Given the description of an element on the screen output the (x, y) to click on. 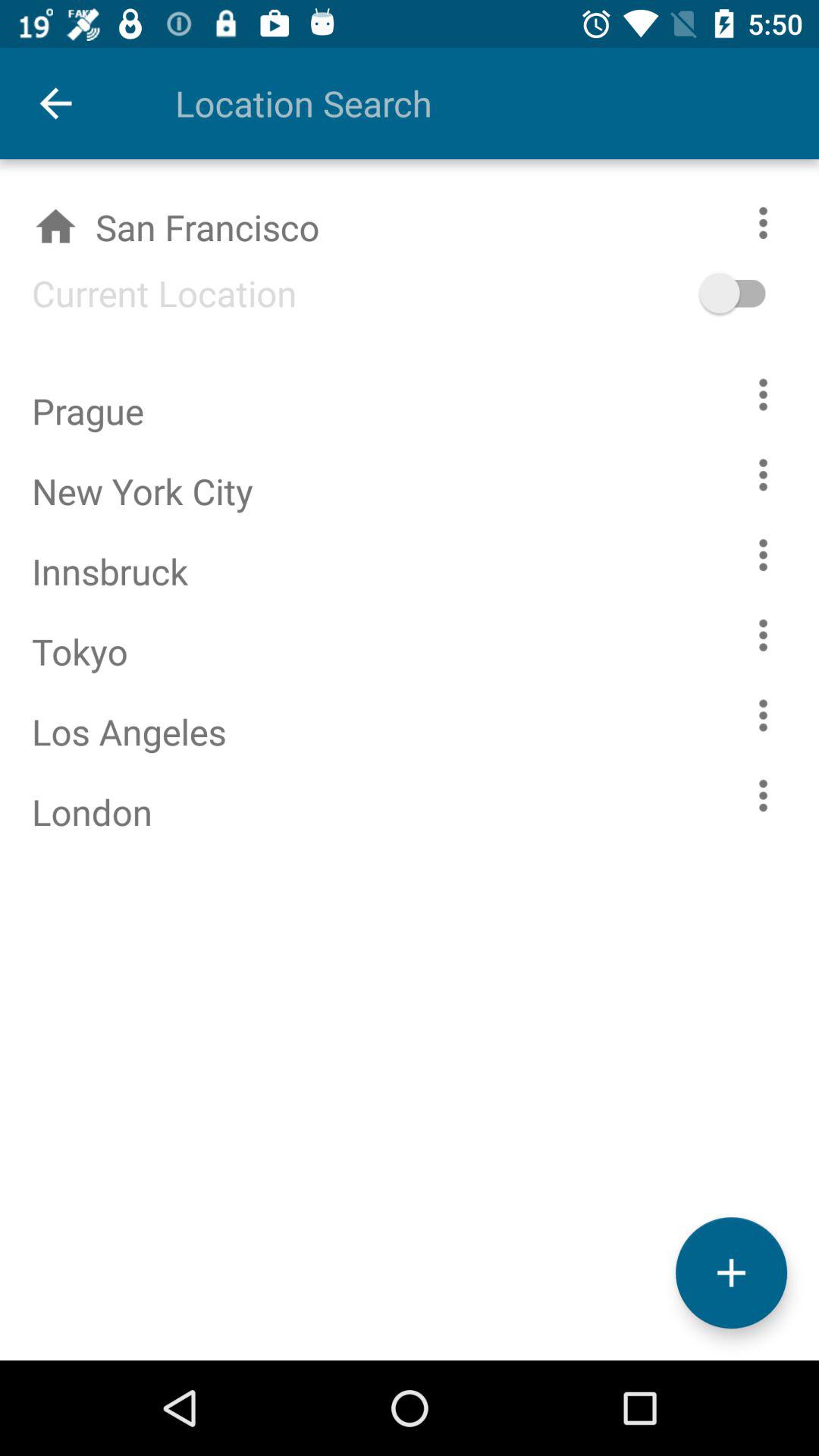
click the item above san francisco icon (464, 103)
